Given the description of an element on the screen output the (x, y) to click on. 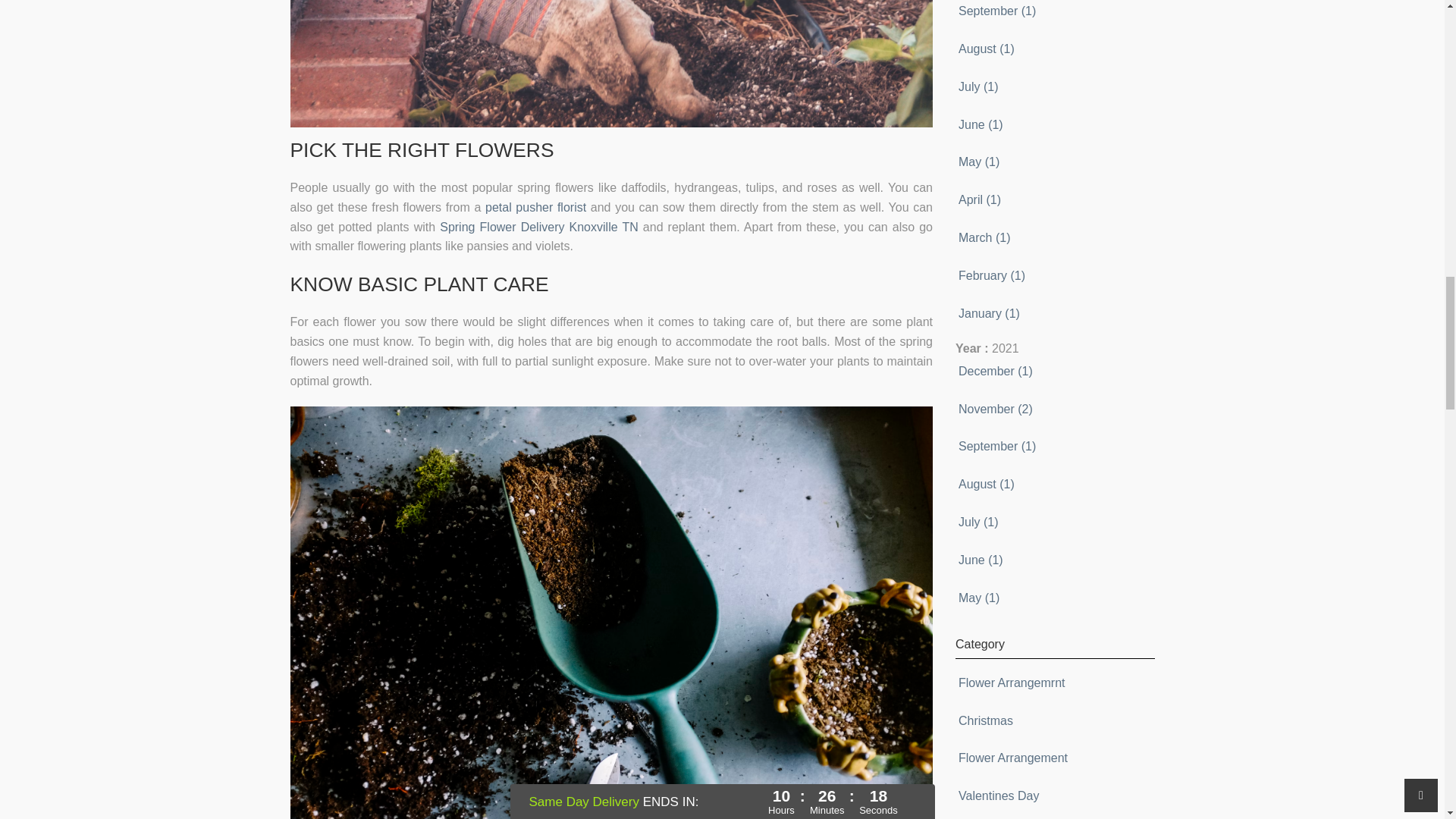
petal pusher florist (535, 206)
Spring Flower Delivery Knoxville (530, 226)
TN (629, 226)
